Given the description of an element on the screen output the (x, y) to click on. 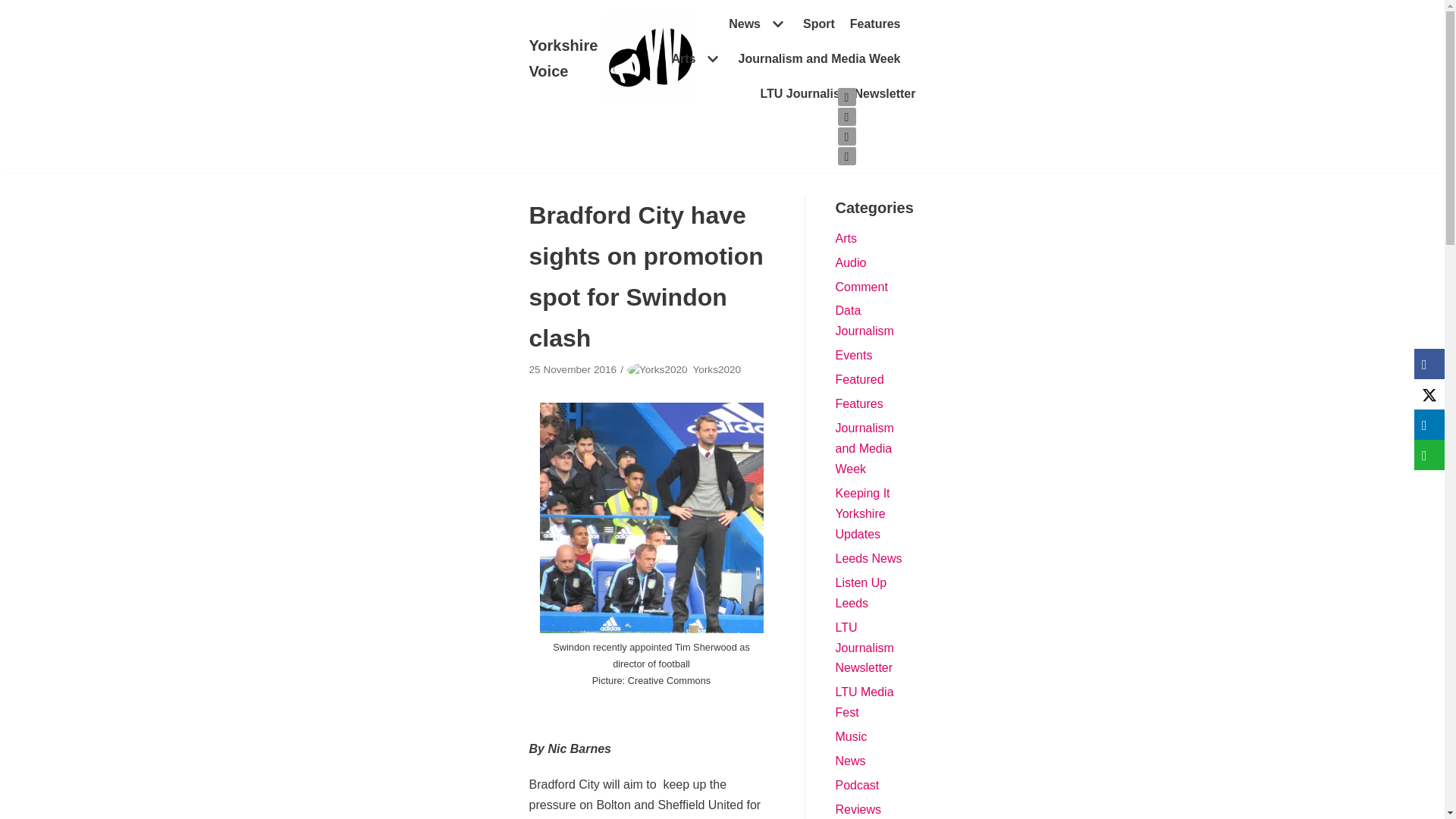
Twitter (846, 96)
Sport (818, 24)
Journalism and Media Week (818, 58)
LTU Journalism Newsletter (837, 94)
Features (875, 24)
Facebook (846, 117)
YouTube (846, 156)
Facebook (846, 116)
News (758, 24)
Instagram (846, 136)
YouTube (846, 156)
Instagram (846, 137)
Skip to content (15, 7)
Yorks2020 (717, 369)
